Given the description of an element on the screen output the (x, y) to click on. 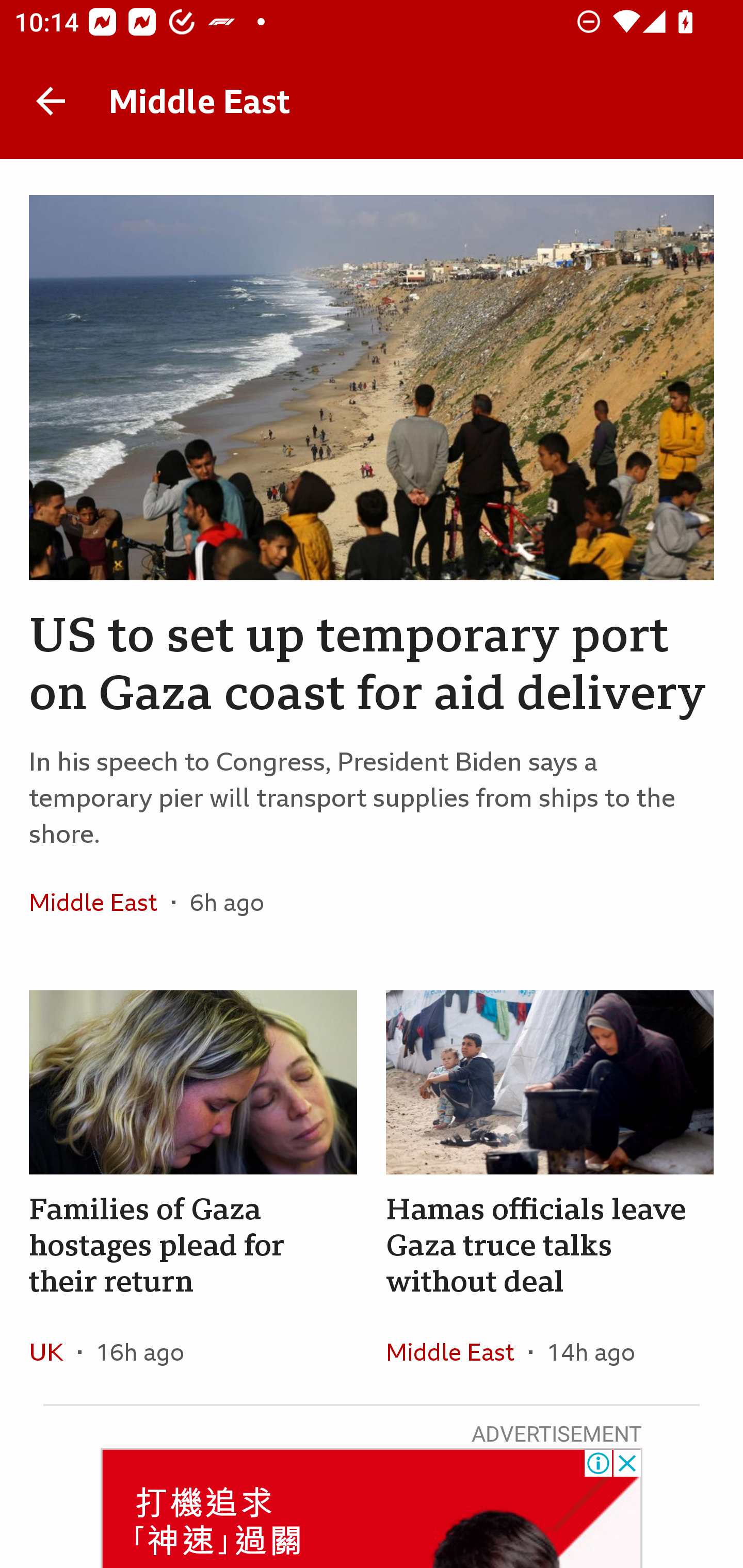
Back (50, 101)
Middle East In the section Middle East (99, 901)
UK In the section UK (53, 1351)
Middle East In the section Middle East (457, 1351)
